Given the description of an element on the screen output the (x, y) to click on. 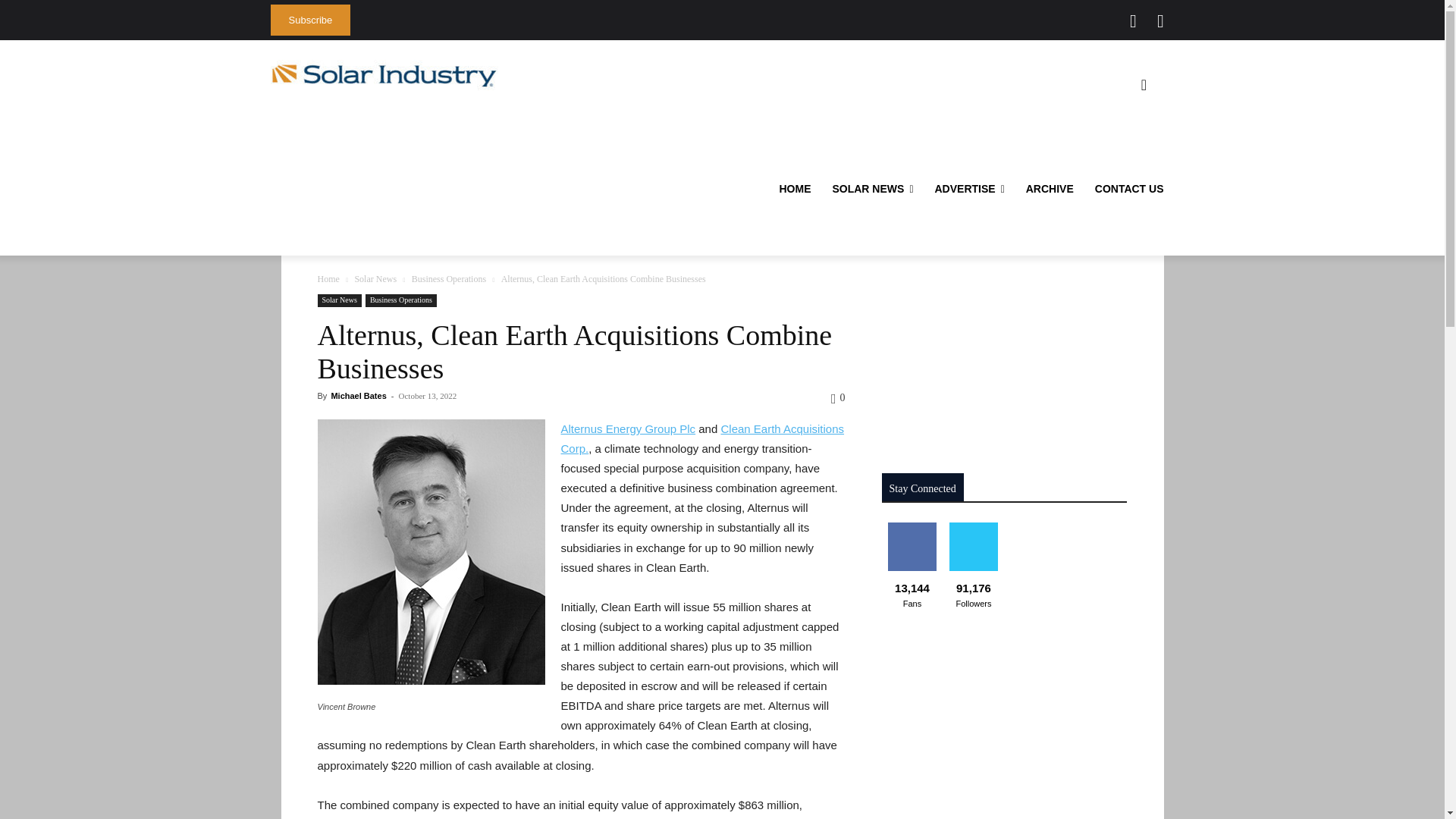
Subscribe (309, 20)
Rss (1160, 21)
Twitter (1133, 21)
Solar Industry (383, 75)
Subscribe (309, 20)
